Given the description of an element on the screen output the (x, y) to click on. 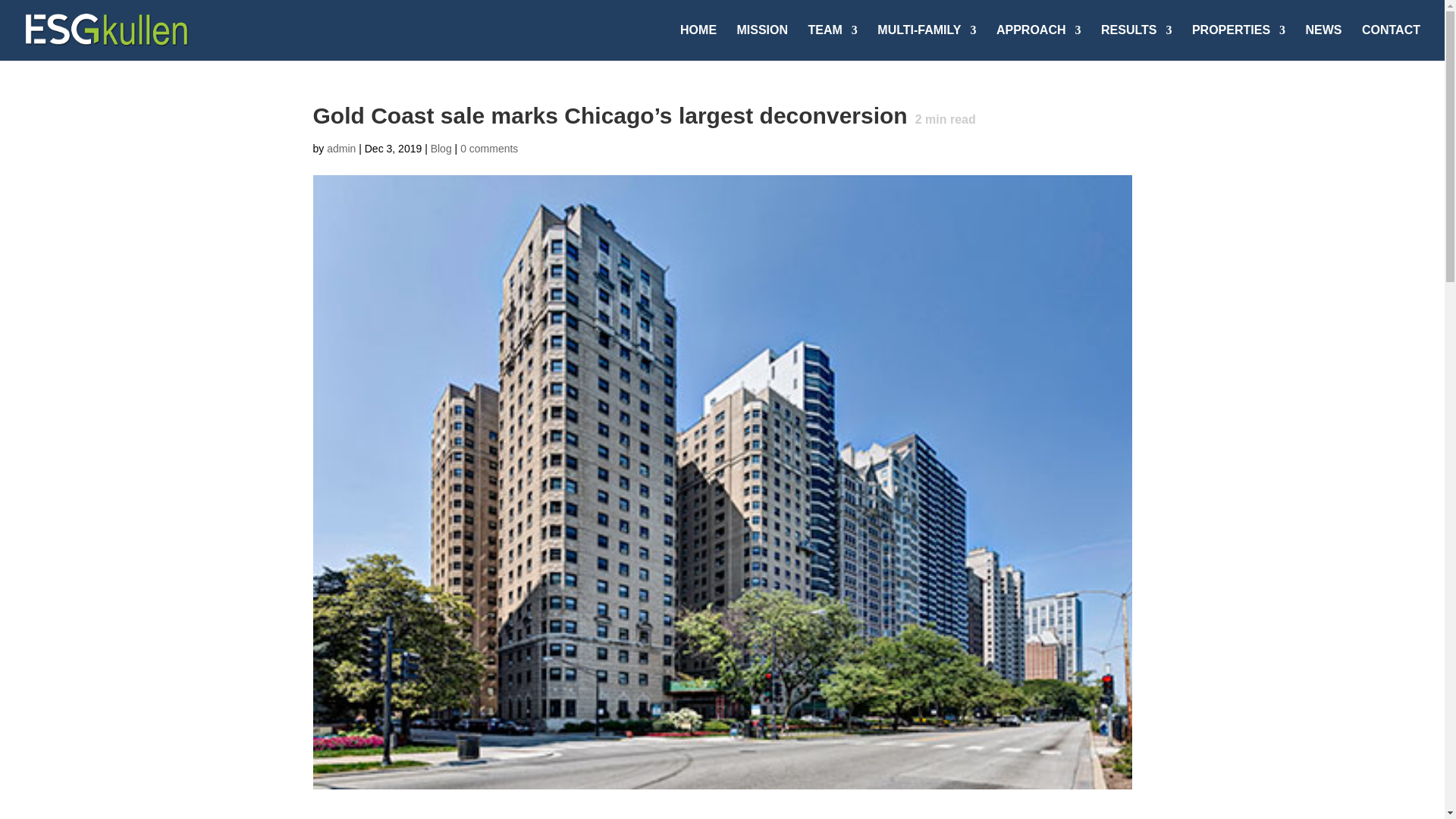
Posts by admin (340, 148)
MULTI-FAMILY (926, 42)
APPROACH (1038, 42)
HOME (697, 42)
TEAM (832, 42)
RESULTS (1136, 42)
PROPERTIES (1238, 42)
MISSION (762, 42)
